Given the description of an element on the screen output the (x, y) to click on. 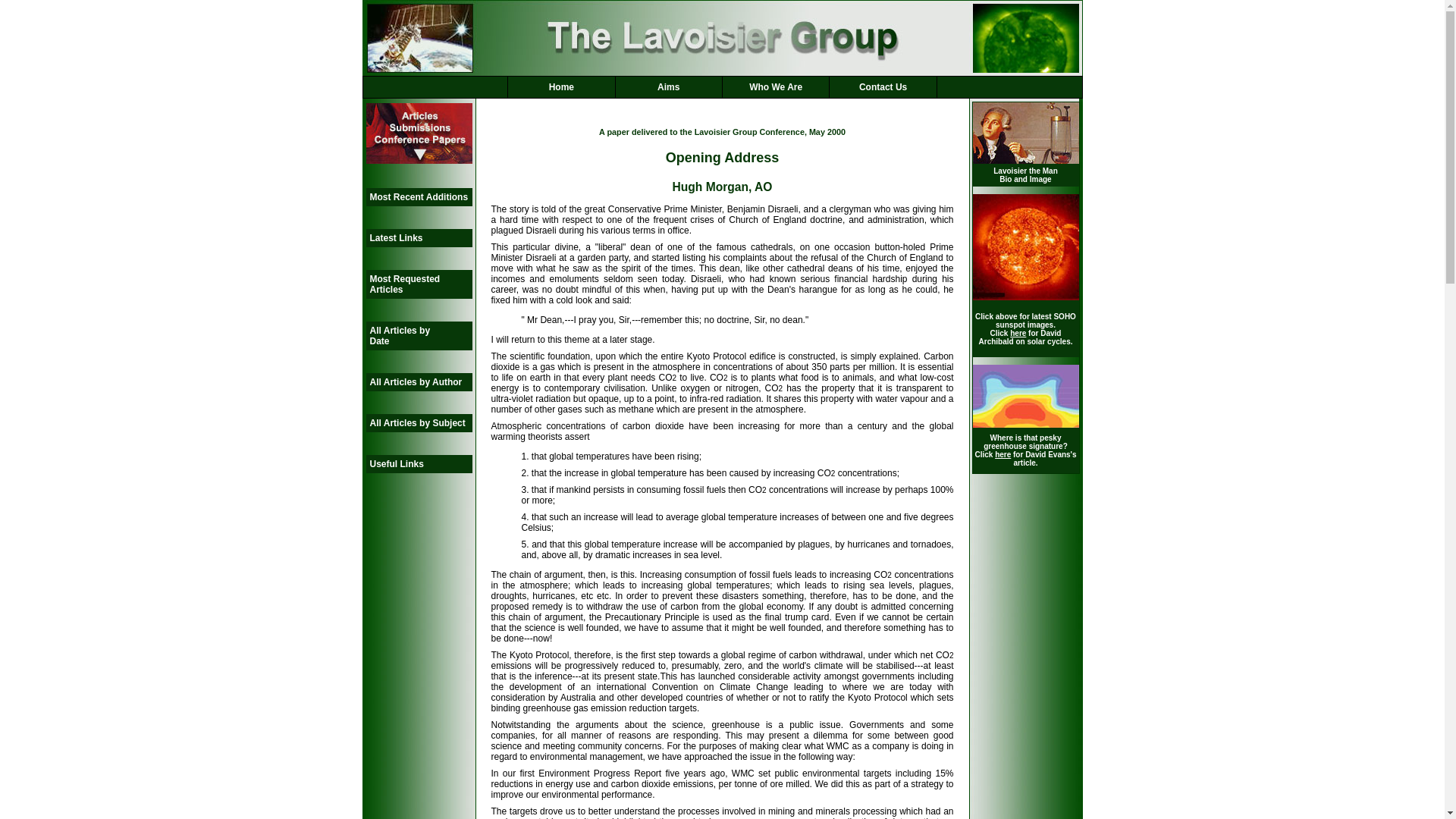
here Element type: text (1002, 454)
All Articles by Subject Element type: text (418, 423)
Most Requested Articles Element type: text (418, 283)
Who We Are Element type: text (775, 86)
All Articles by Author Element type: text (418, 382)
here Element type: text (1018, 333)
Aims Element type: text (668, 86)
Most Recent Additions Element type: text (418, 197)
Useful Links Element type: text (418, 464)
Home Element type: text (561, 86)
Latest Links Element type: text (418, 238)
Contact Us Element type: text (882, 86)
All Articles by
Date Element type: text (418, 335)
